Given the description of an element on the screen output the (x, y) to click on. 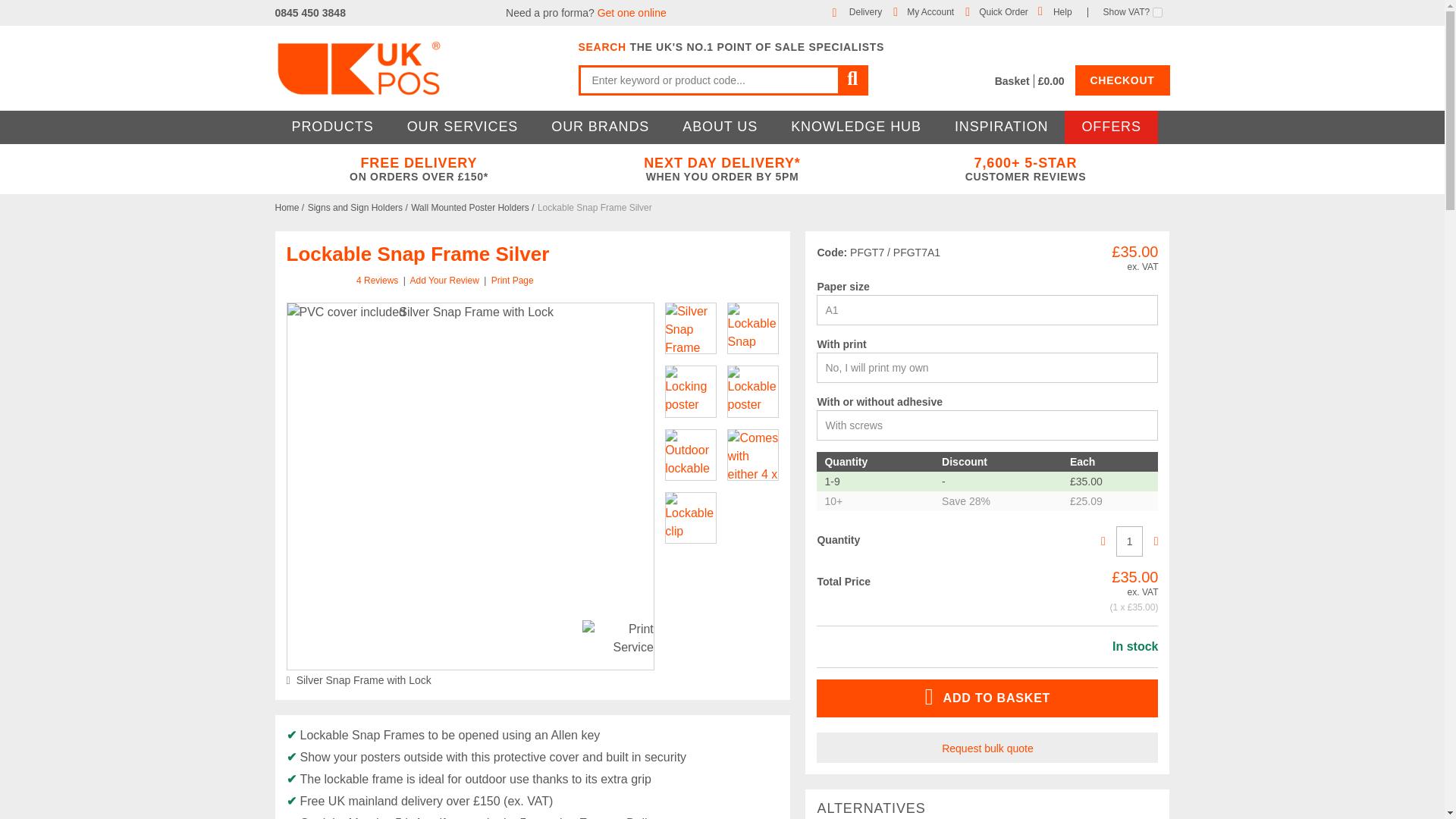
Get one online (631, 12)
UK POS (418, 67)
Delivery (865, 11)
on (1157, 12)
Silver Snap Frame with Lock (469, 486)
CHECKOUT (1122, 80)
Quick Order (1002, 11)
Go to Home Page (288, 207)
0845 450 3848 (310, 12)
Search (852, 80)
Help (1061, 11)
My Account (930, 11)
